Given the description of an element on the screen output the (x, y) to click on. 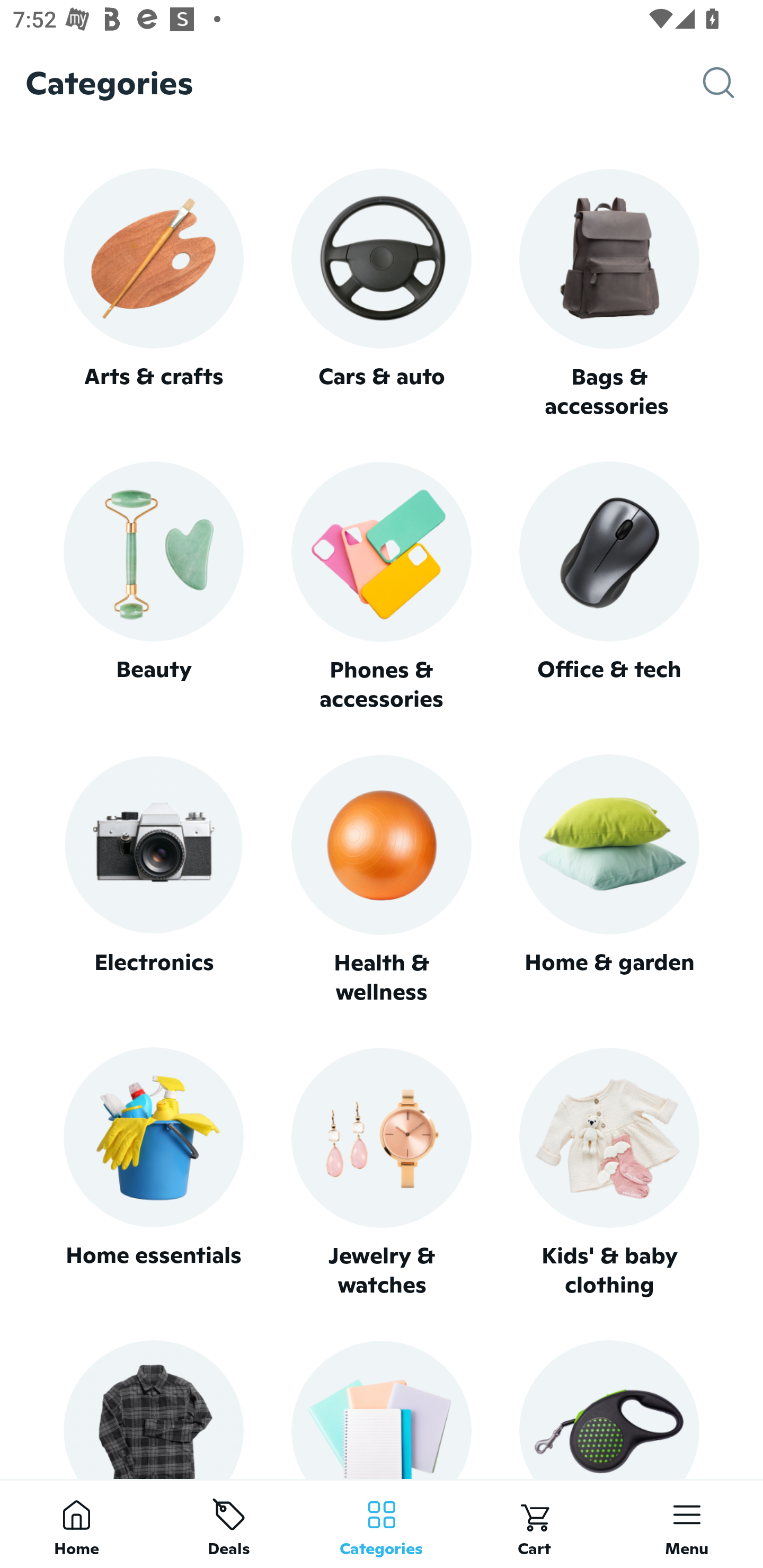
Search (732, 82)
Arts & crafts (153, 293)
Cars & auto (381, 293)
Bags & accessories  (609, 294)
Beauty (153, 586)
Office & tech (609, 586)
Phones & accessories (381, 587)
Electronics (153, 880)
Home & garden (609, 880)
Health & wellness (381, 880)
Home essentials (153, 1172)
Jewelry & watches (381, 1172)
Kids' & baby clothing (609, 1172)
Men's clothing (153, 1409)
Pet supplies (609, 1409)
Office & school supplies (381, 1409)
Home (76, 1523)
Deals (228, 1523)
Categories (381, 1523)
Cart (533, 1523)
Menu (686, 1523)
